Given the description of an element on the screen output the (x, y) to click on. 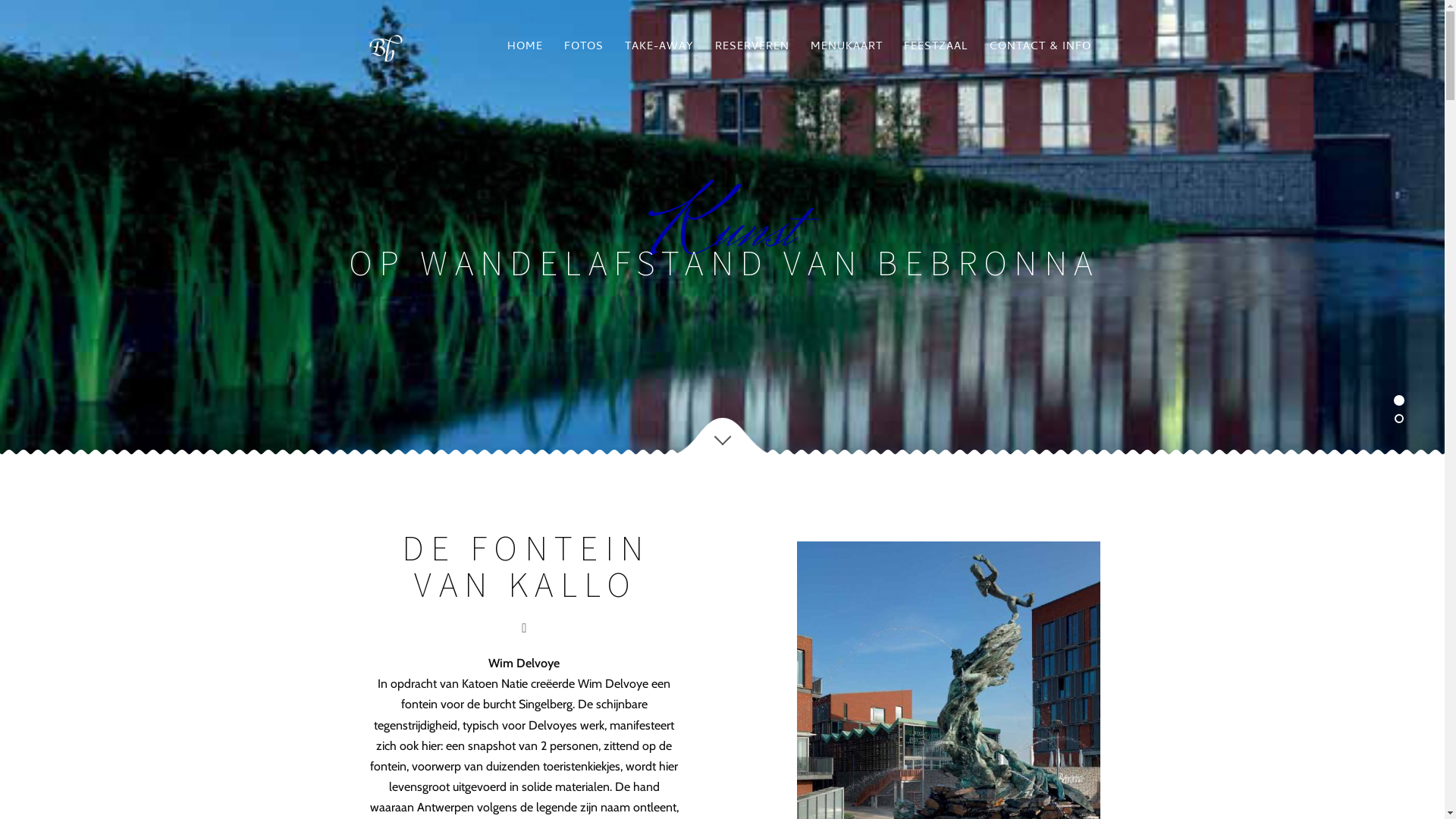
MENUKAART Element type: text (846, 47)
FEESTZAAL Element type: text (935, 47)
HOME Element type: text (525, 47)
TAKE-AWAY Element type: text (658, 47)
Restaurant & Feestzaal Bebronna Element type: hover (390, 47)
RESERVEREN Element type: text (752, 47)
FOTOS Element type: text (583, 47)
CONTACT & INFO Element type: text (1040, 47)
